Given the description of an element on the screen output the (x, y) to click on. 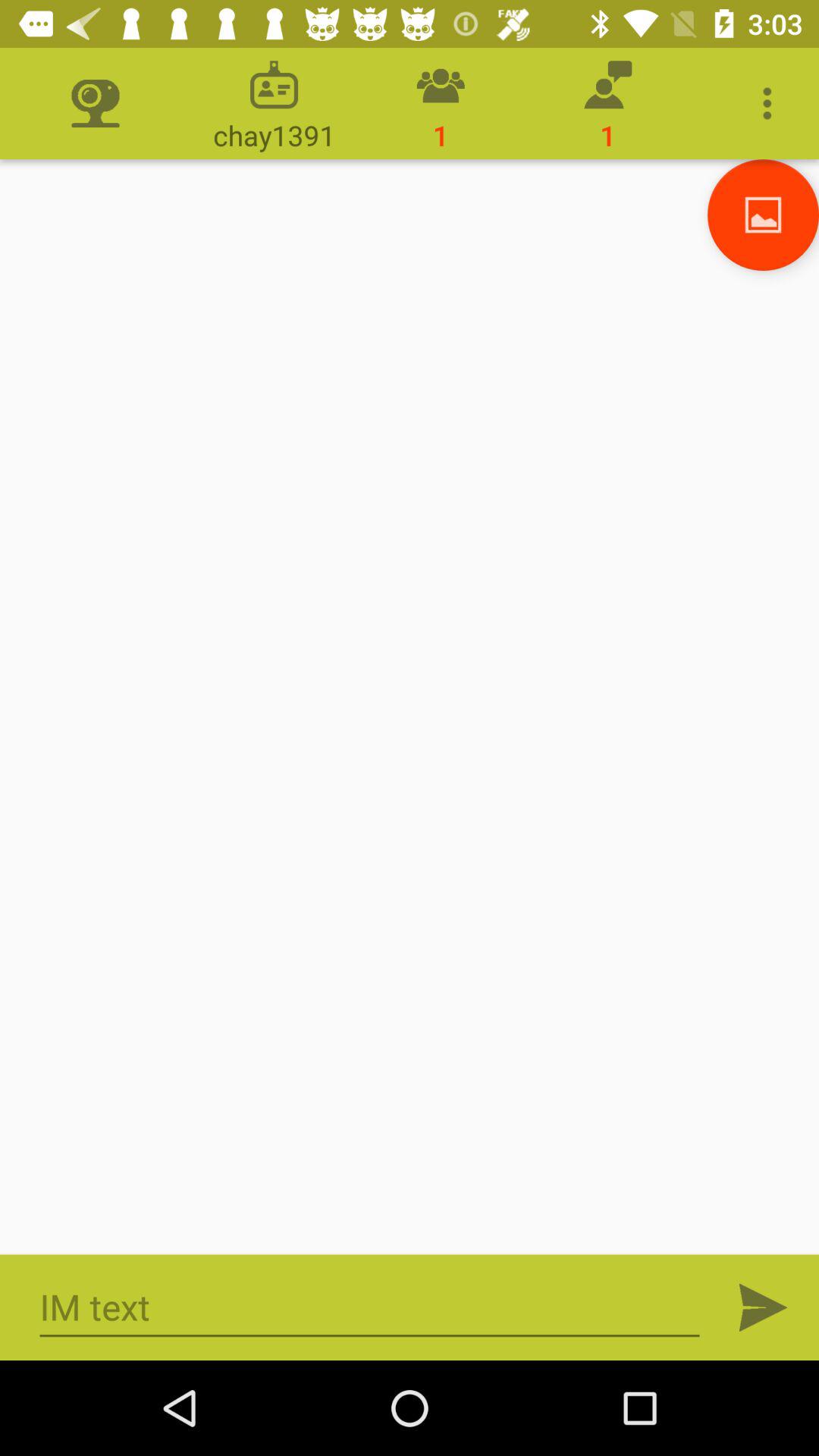
enter im text (369, 1307)
